Given the description of an element on the screen output the (x, y) to click on. 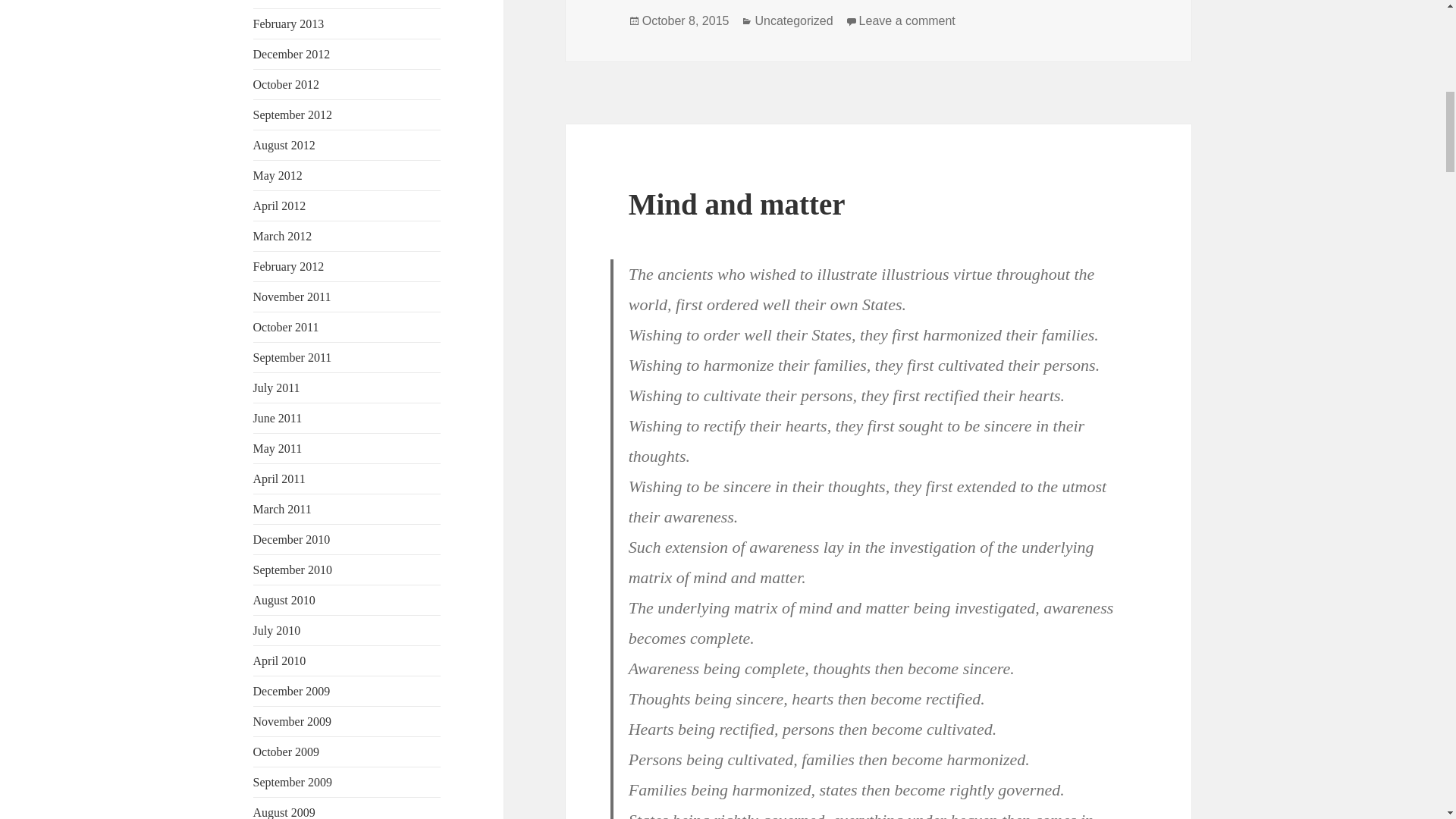
November 2011 (292, 296)
April 2012 (279, 205)
October 2011 (285, 327)
March 2012 (283, 236)
February 2013 (288, 23)
August 2012 (284, 144)
September 2012 (292, 114)
September 2010 (292, 569)
March 2011 (282, 508)
May 2012 (277, 174)
June 2011 (277, 418)
December 2012 (291, 53)
December 2010 (291, 539)
September 2011 (292, 357)
April 2011 (279, 478)
